Given the description of an element on the screen output the (x, y) to click on. 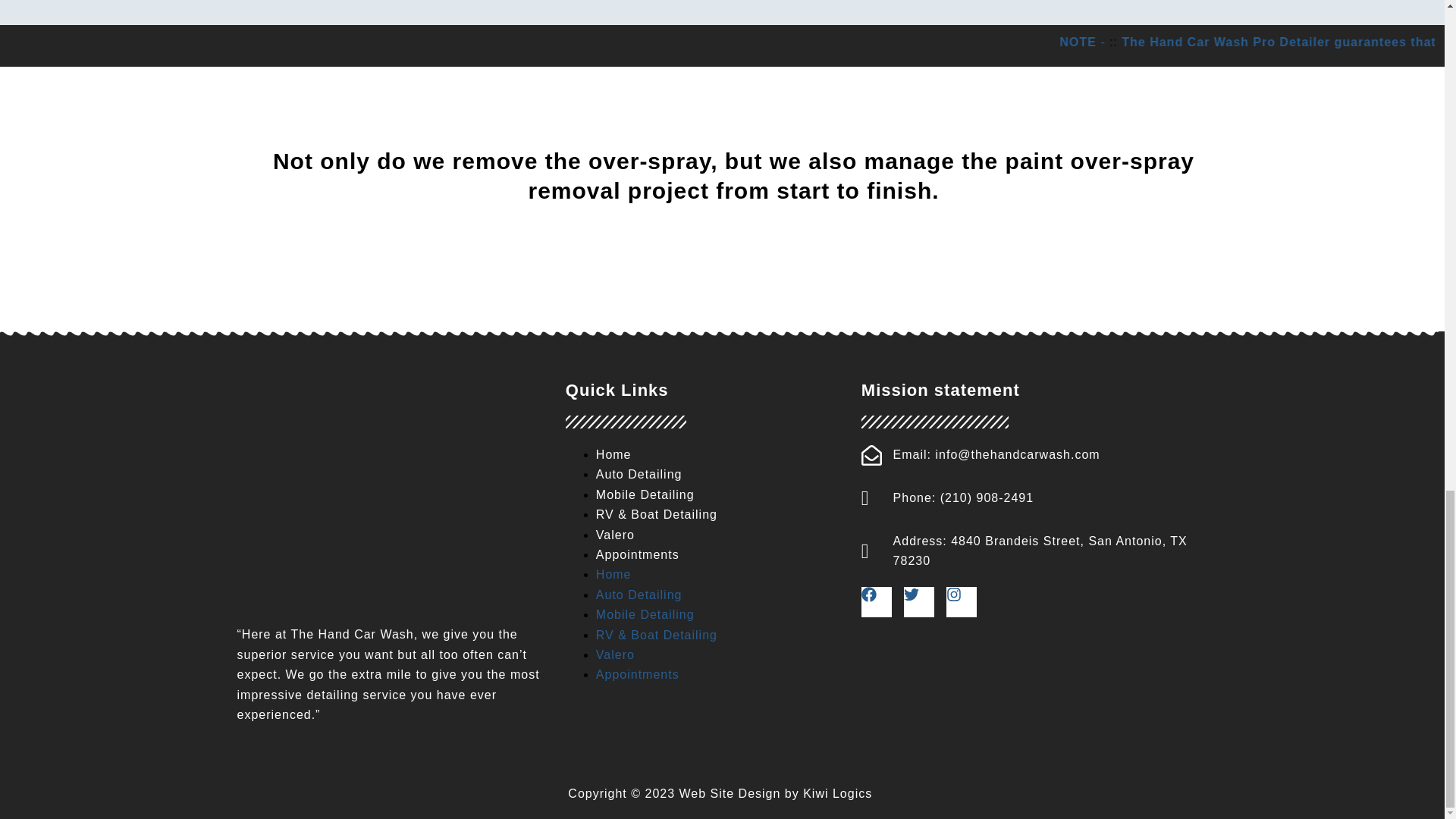
Auto Detailing (638, 473)
Valero (614, 534)
Home (613, 454)
Mobile Detailing (644, 494)
Valero (614, 654)
Appointments (637, 554)
Appointments (637, 674)
Mobile Detailing (644, 614)
Home (613, 574)
Auto Detailing (638, 594)
